Given the description of an element on the screen output the (x, y) to click on. 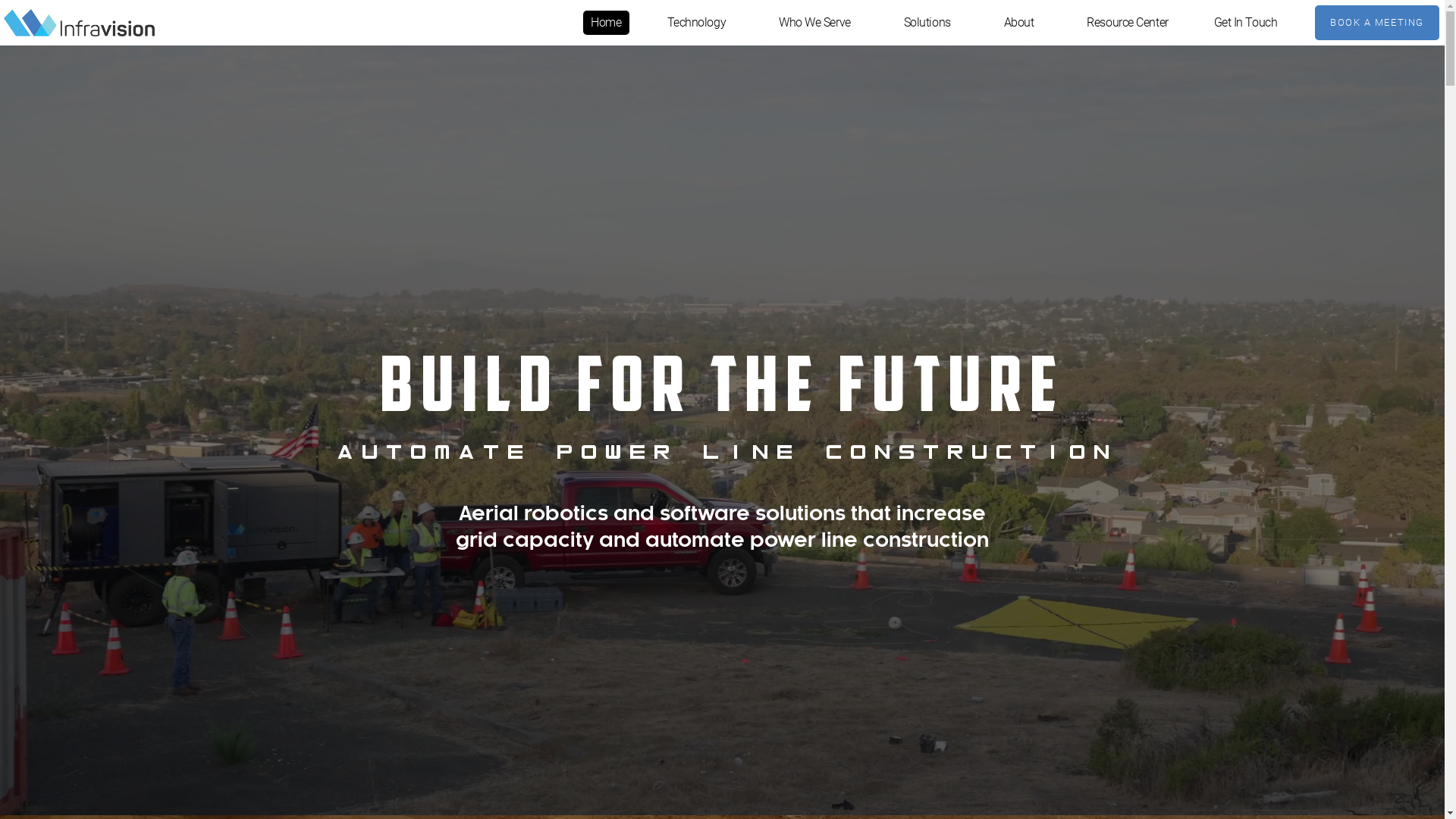
BOOK A MEETING Element type: text (1376, 22)
Get In Touch Element type: text (1245, 22)
Who We Serve Element type: text (818, 22)
Home Element type: text (605, 22)
Technology Element type: text (700, 22)
Resource Center Element type: text (1127, 22)
Solutions Element type: text (931, 22)
About Element type: text (1022, 22)
